Given the description of an element on the screen output the (x, y) to click on. 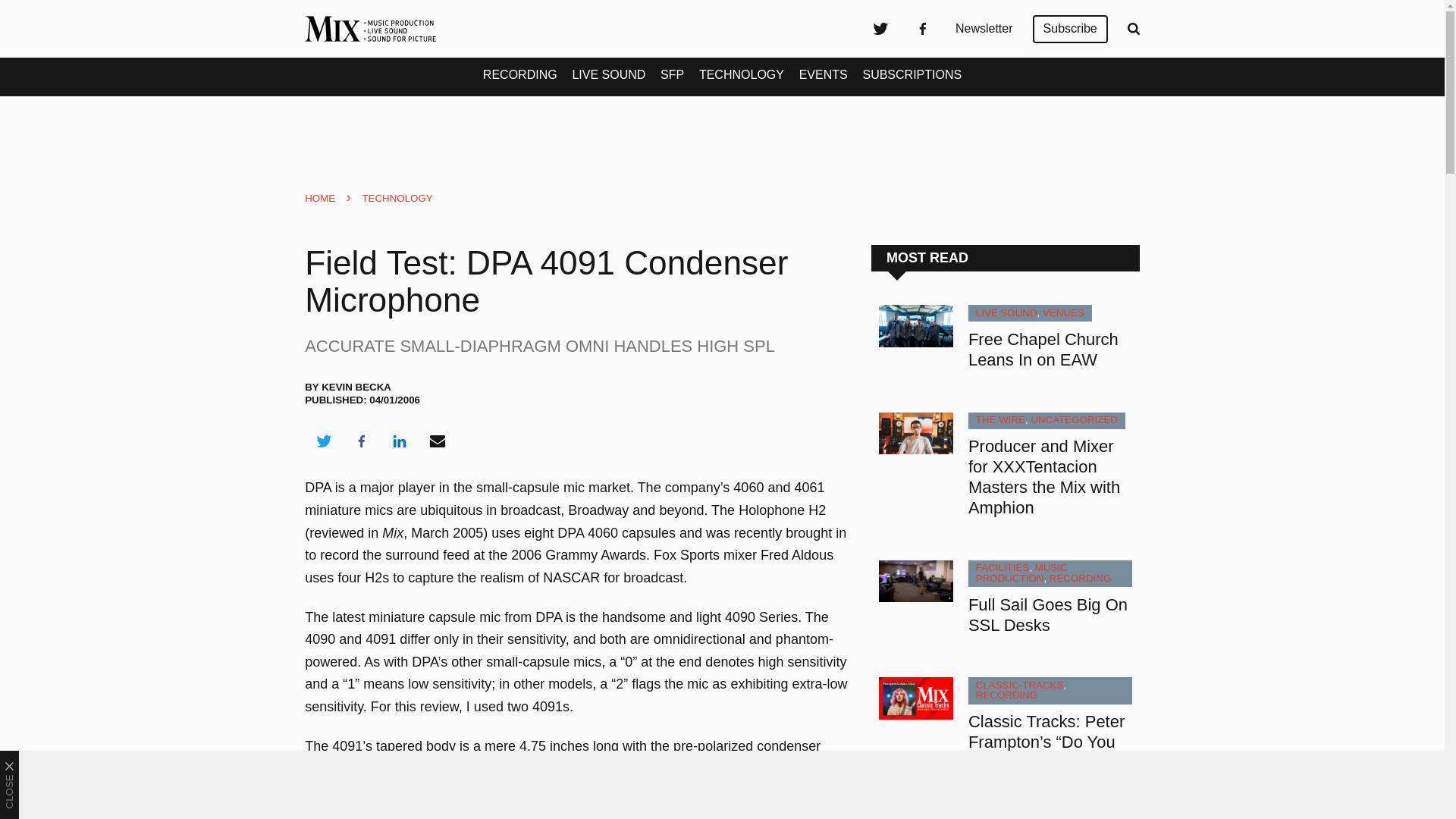
Share via Email (438, 441)
Share on LinkedIn (399, 441)
Share on Facebook (361, 441)
Share on Twitter (323, 441)
